Given the description of an element on the screen output the (x, y) to click on. 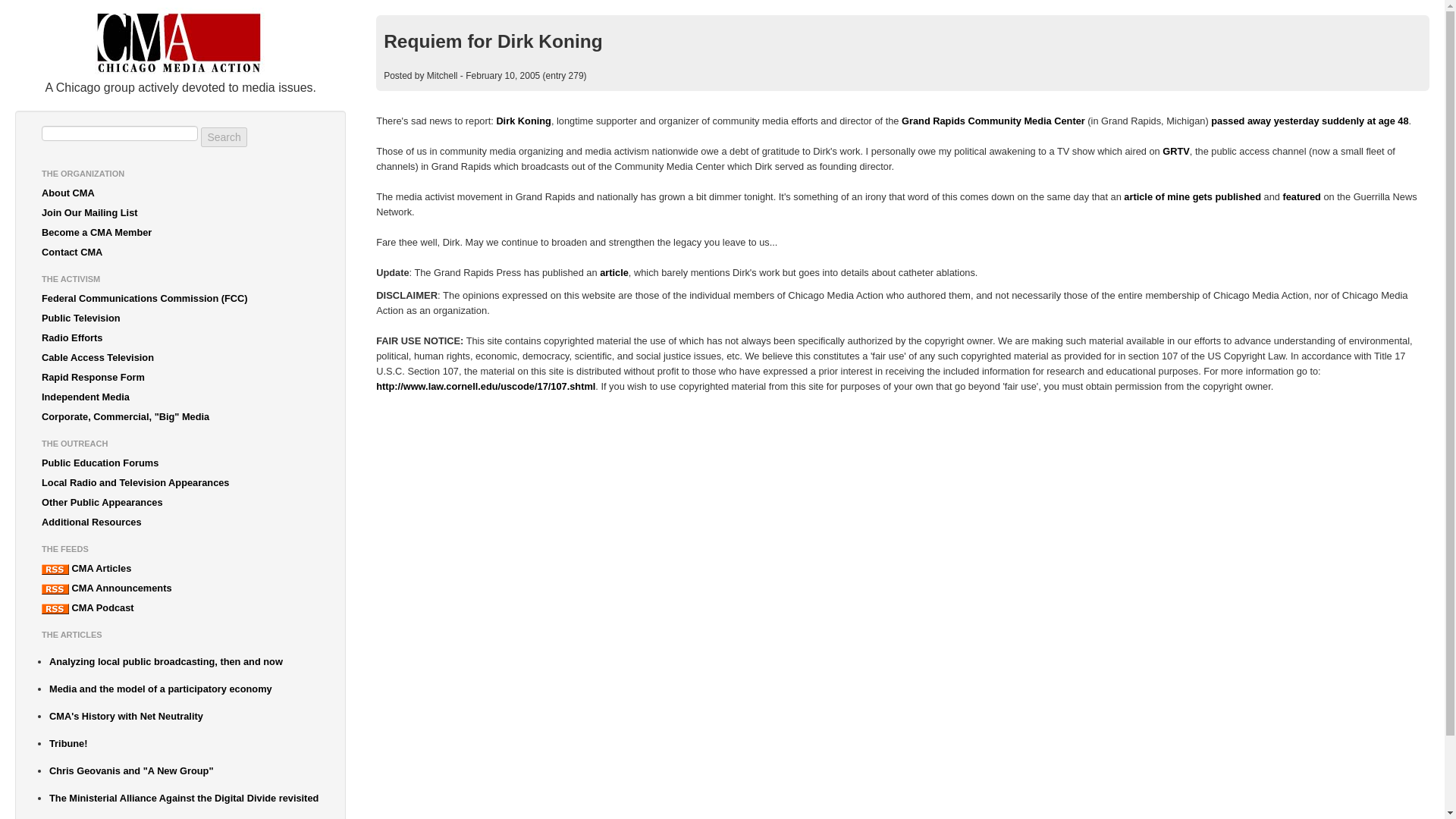
passed away yesterday suddenly at age 48 (1309, 120)
Corporate, Commercial, "Big" Media (180, 416)
Media and the model of a participatory economy (183, 689)
Dirk Koning (523, 120)
About CMA (180, 193)
featured (1301, 196)
GRTV (1175, 151)
article (613, 272)
Grand Rapids Community Media Center (992, 120)
Additional Resources (180, 522)
Local Radio and Television Appearances (180, 483)
Rapid Response Form (180, 377)
CMA's History with Net Neutrality (183, 716)
Search (223, 137)
